Given the description of an element on the screen output the (x, y) to click on. 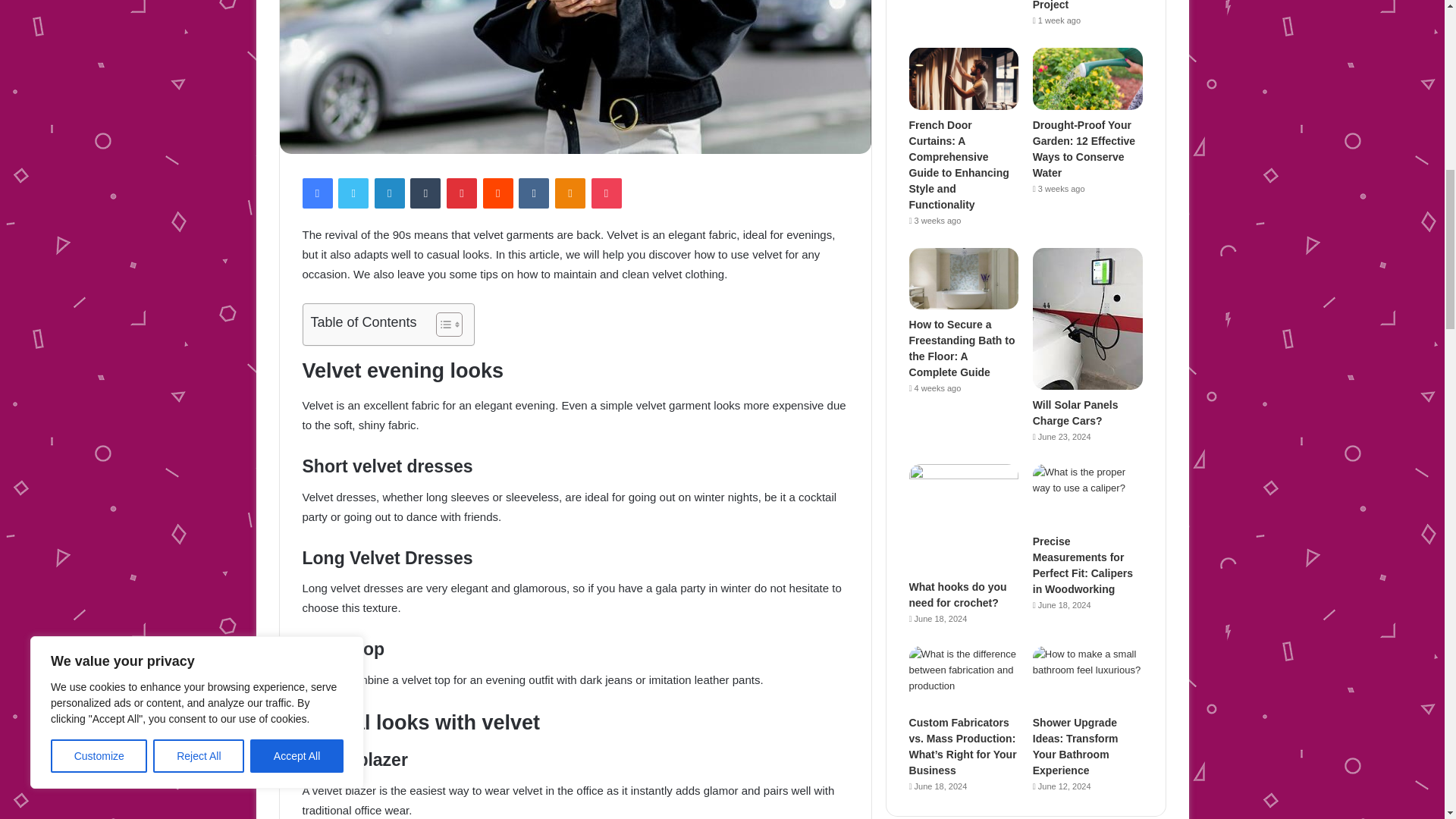
Tumblr (425, 193)
LinkedIn (389, 193)
Facebook (316, 193)
VKontakte (533, 193)
Reddit (498, 193)
Odnoklassniki (569, 193)
Twitter (352, 193)
Pinterest (461, 193)
Pocket (606, 193)
